Given the description of an element on the screen output the (x, y) to click on. 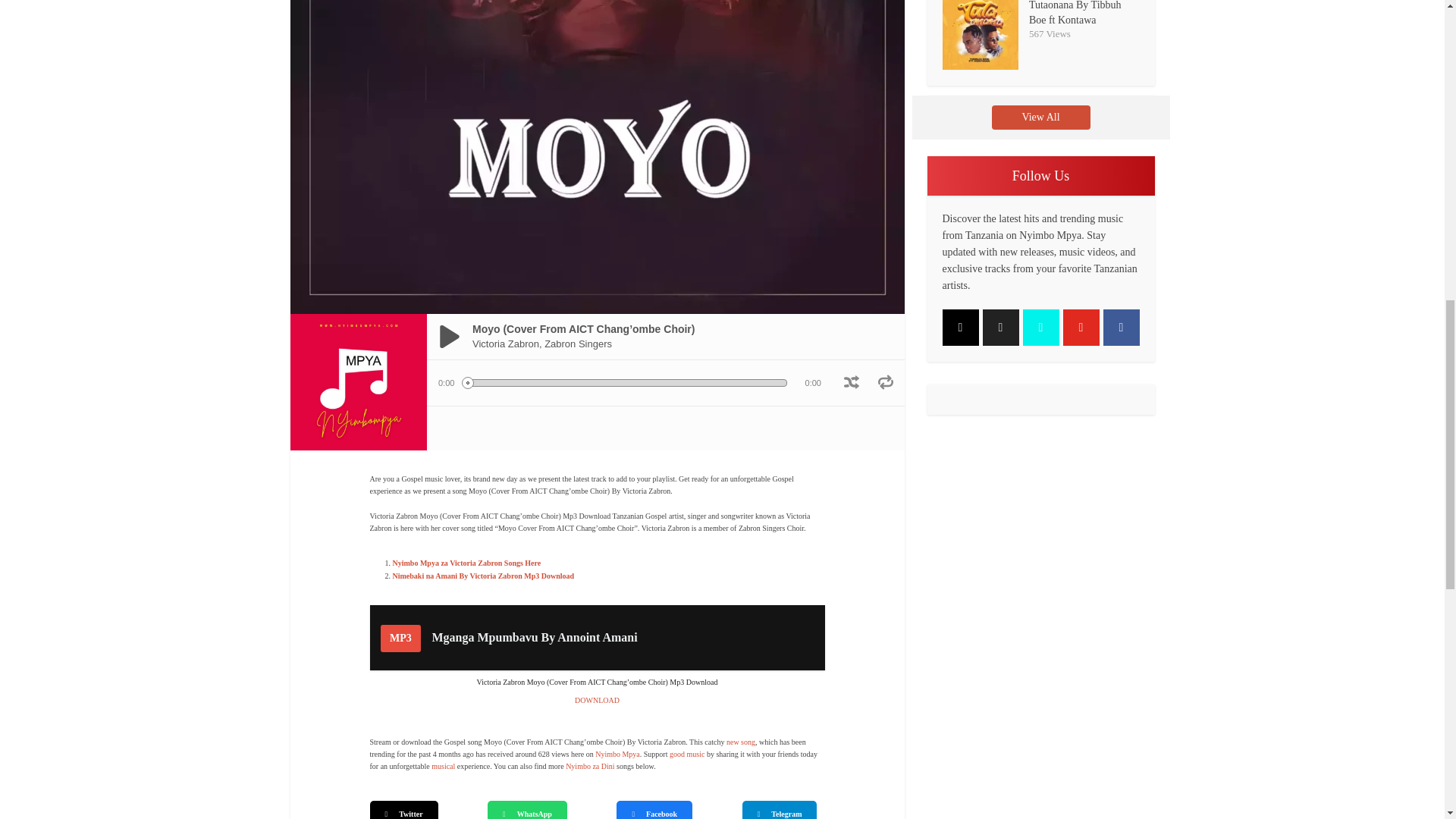
new song (740, 741)
musical (597, 637)
DOWNLOAD (442, 766)
good music (597, 700)
Nimebaki na Amani By Victoria Zabron Mp3 Download (686, 754)
Twitter (484, 575)
WhatsApp (403, 809)
Nyimbo Mpya (527, 809)
Facebook (617, 754)
Nyimbo Mpya za Victoria Zabron Songs Here (654, 809)
Nyimbo za Dini (467, 562)
Telegram (590, 766)
